Given the description of an element on the screen output the (x, y) to click on. 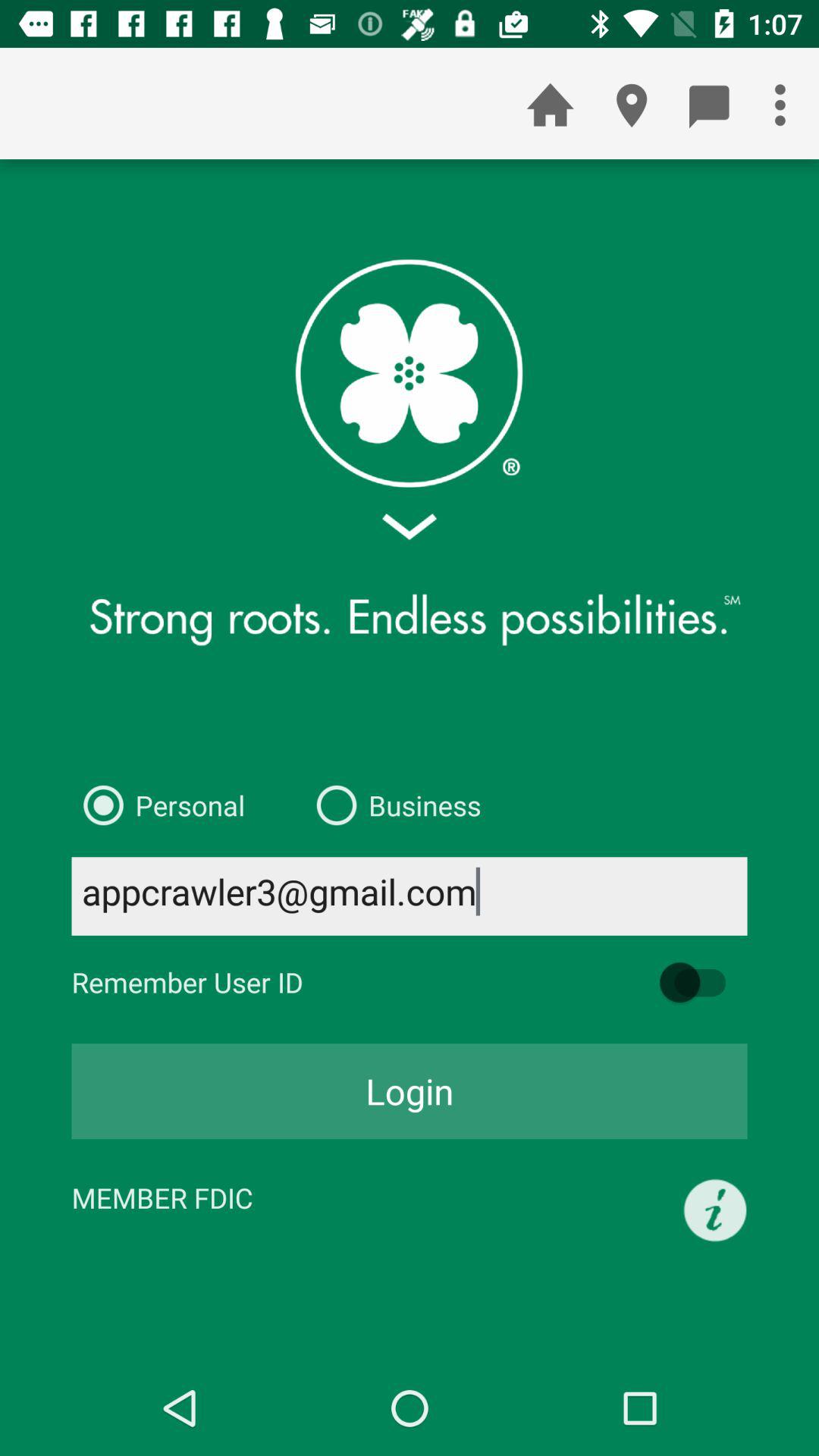
turn on icon above login icon (699, 982)
